Given the description of an element on the screen output the (x, y) to click on. 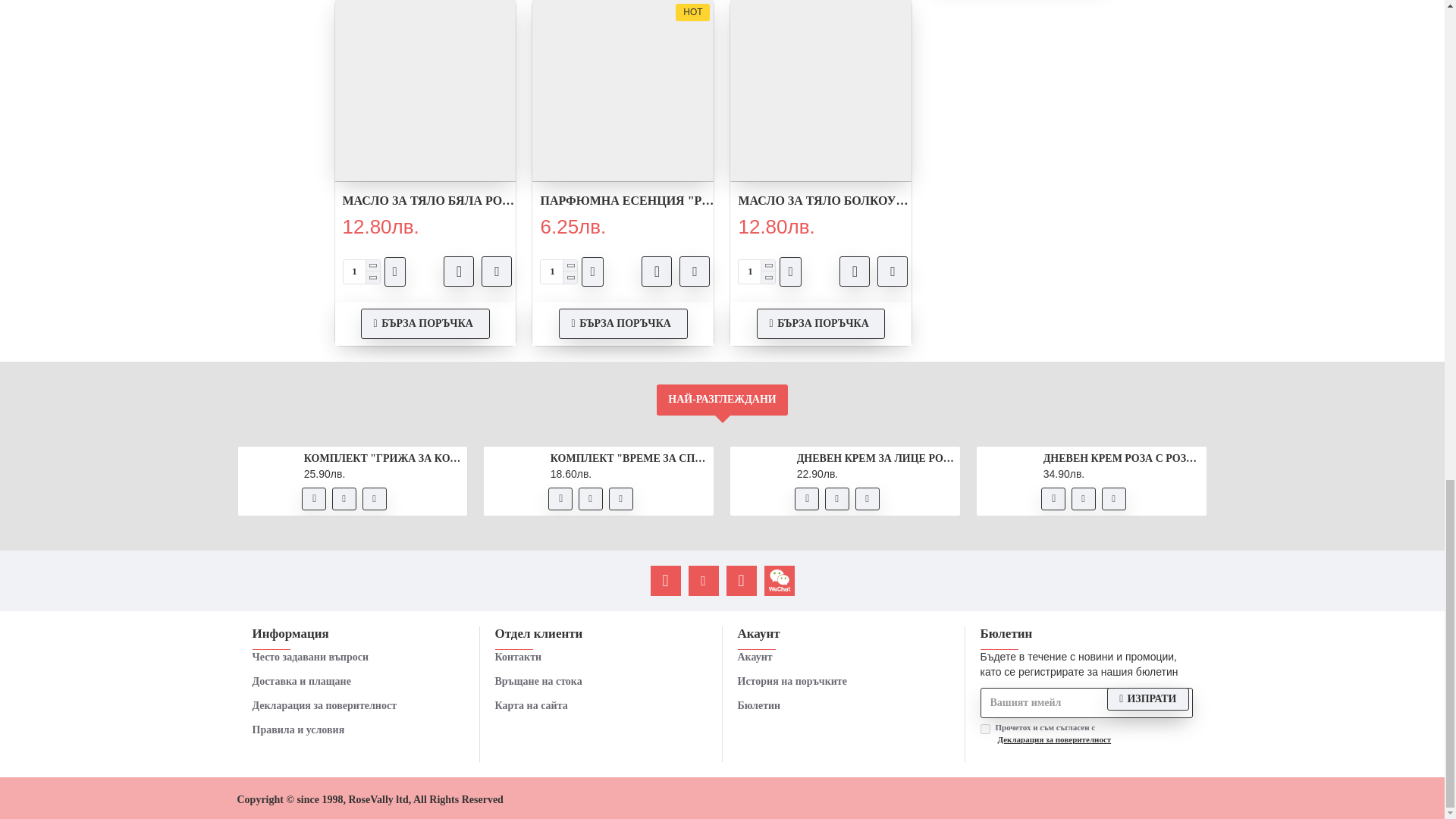
1 (558, 271)
1 (756, 271)
1 (984, 728)
1 (360, 271)
